Given the description of an element on the screen output the (x, y) to click on. 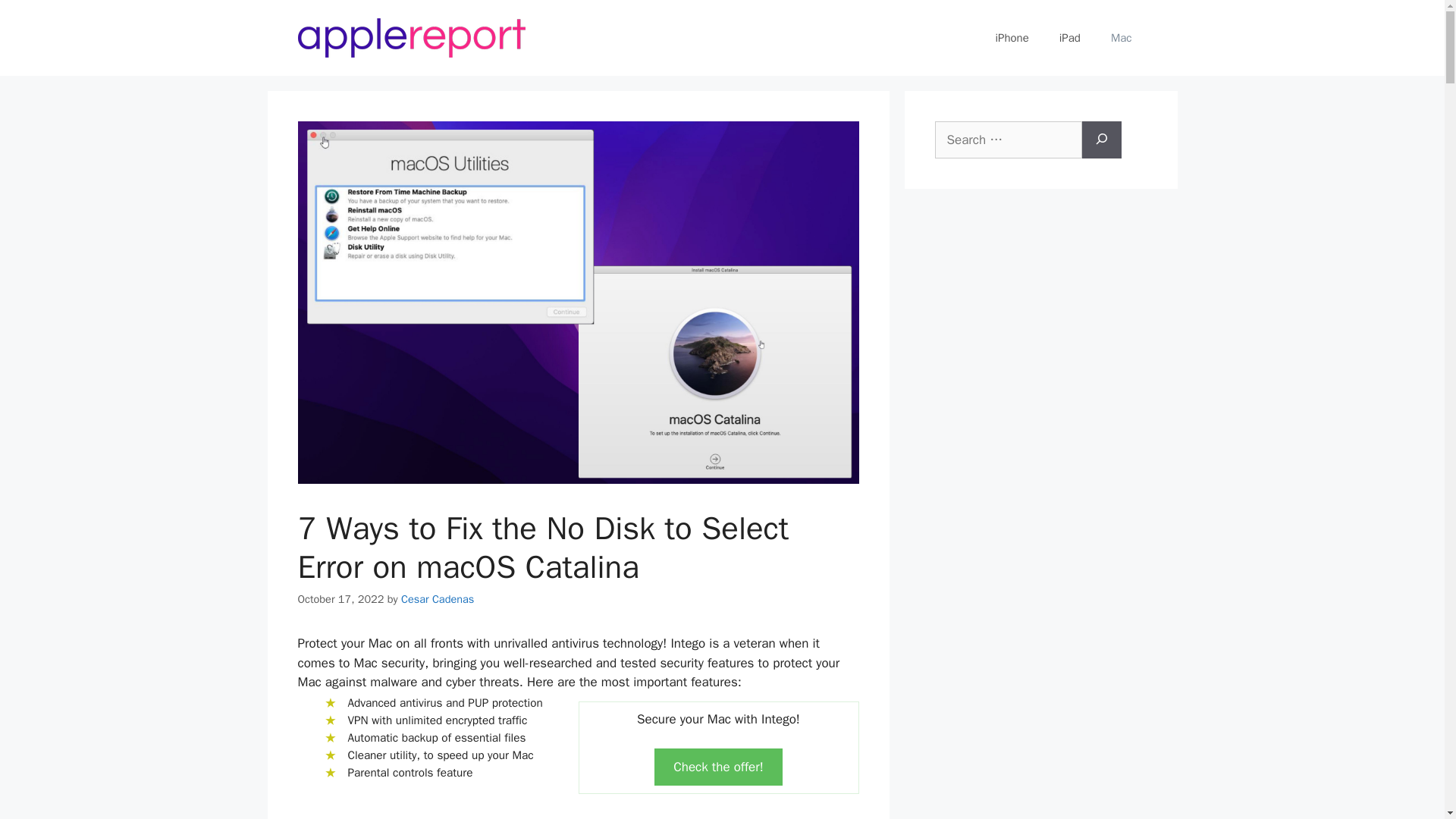
Cesar Cadenas (437, 599)
iPhone (1011, 37)
iPad (1069, 37)
View all posts by Cesar Cadenas (437, 599)
Check the offer! (718, 767)
Mac (1121, 37)
Check the offer! (719, 767)
